Given the description of an element on the screen output the (x, y) to click on. 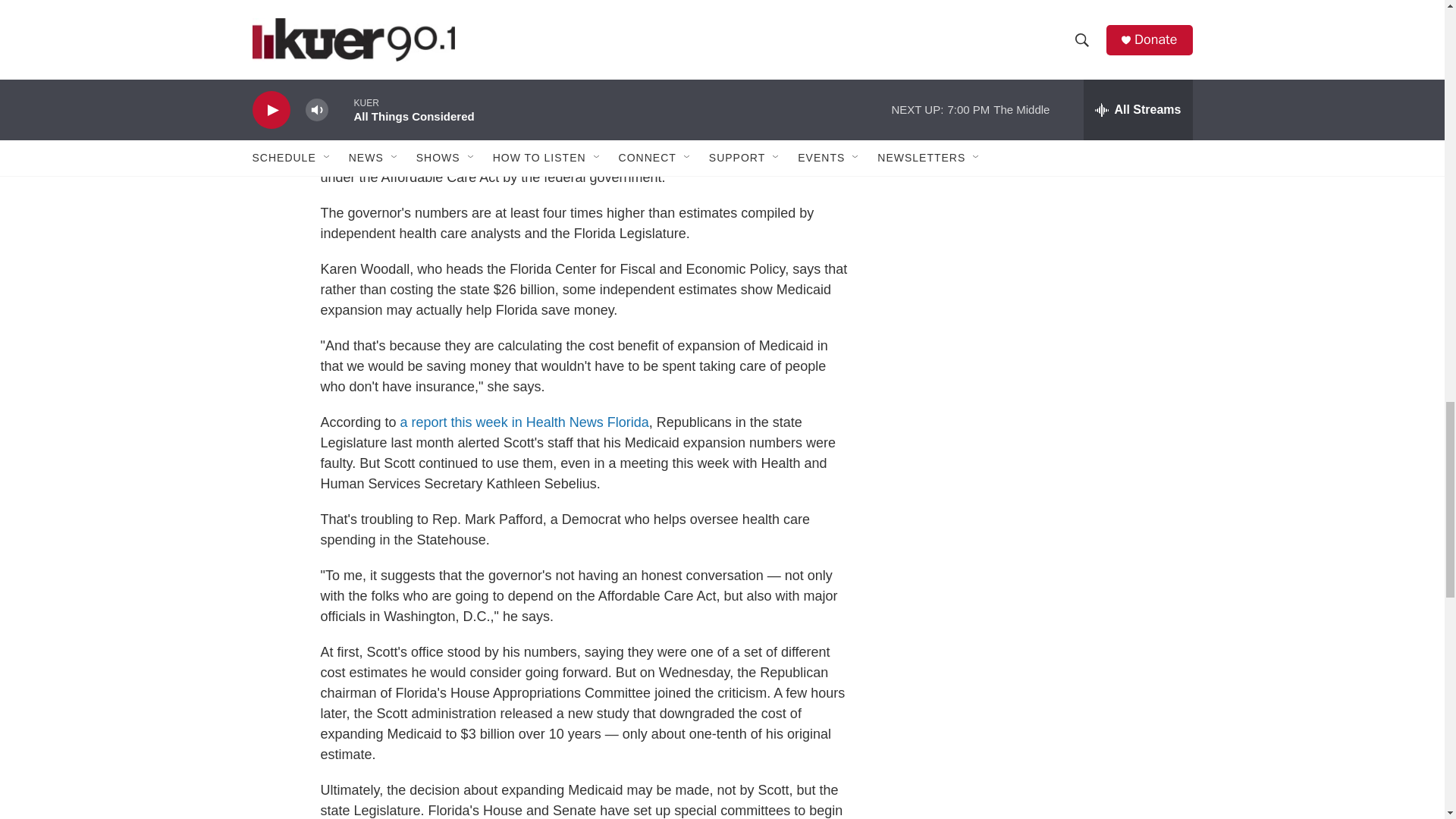
3rd party ad content (1062, 15)
